Given the description of an element on the screen output the (x, y) to click on. 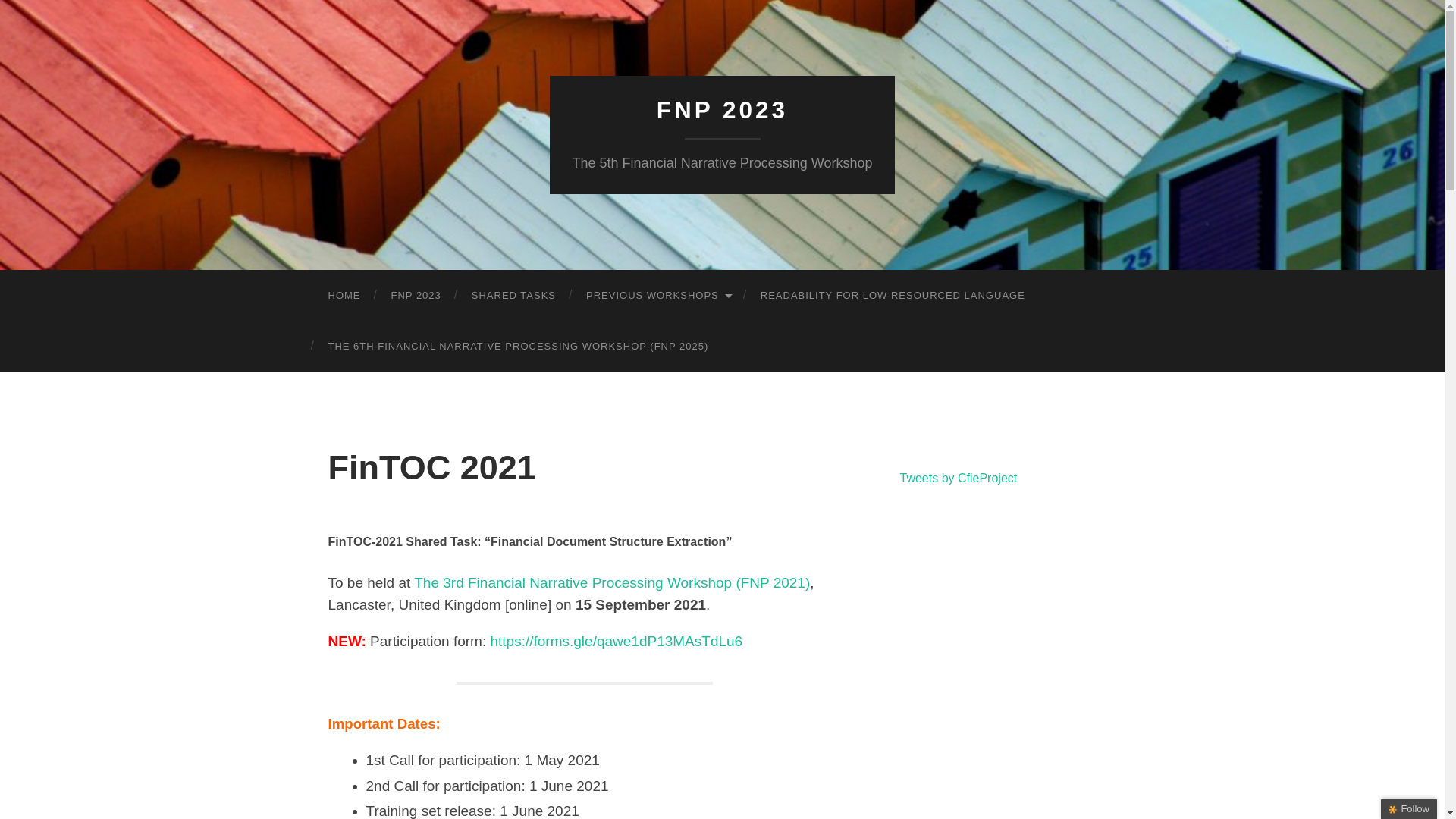
FNP 2023 (721, 109)
HOME (344, 295)
SHARED TASKS (513, 295)
PREVIOUS WORKSHOPS (657, 295)
READABILITY FOR LOW RESOURCED LANGUAGE (893, 295)
FNP 2023 (416, 295)
